Given the description of an element on the screen output the (x, y) to click on. 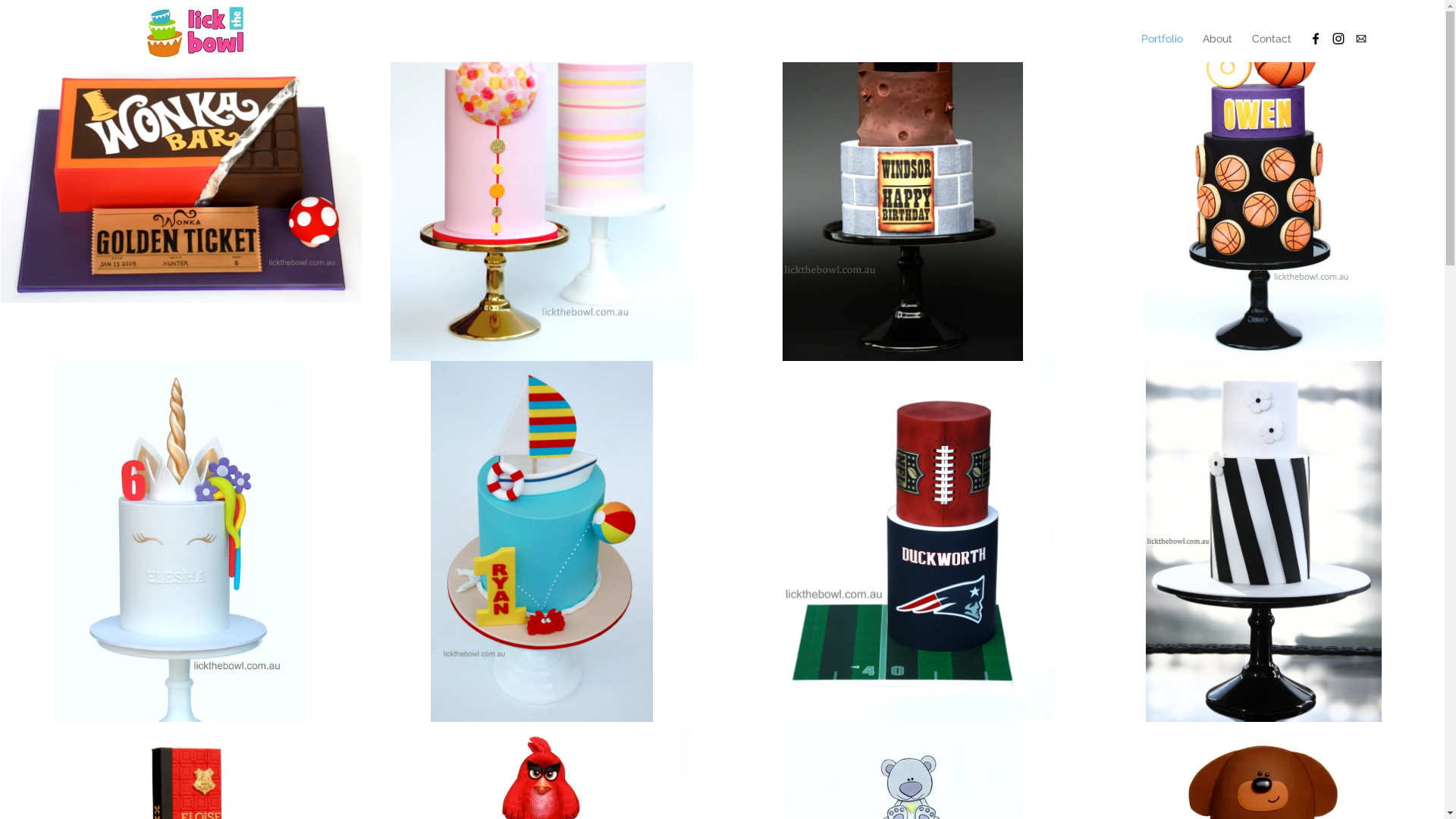
About Element type: text (1217, 38)
Portfolio Element type: text (1161, 38)
Contact Element type: text (1271, 38)
